Given the description of an element on the screen output the (x, y) to click on. 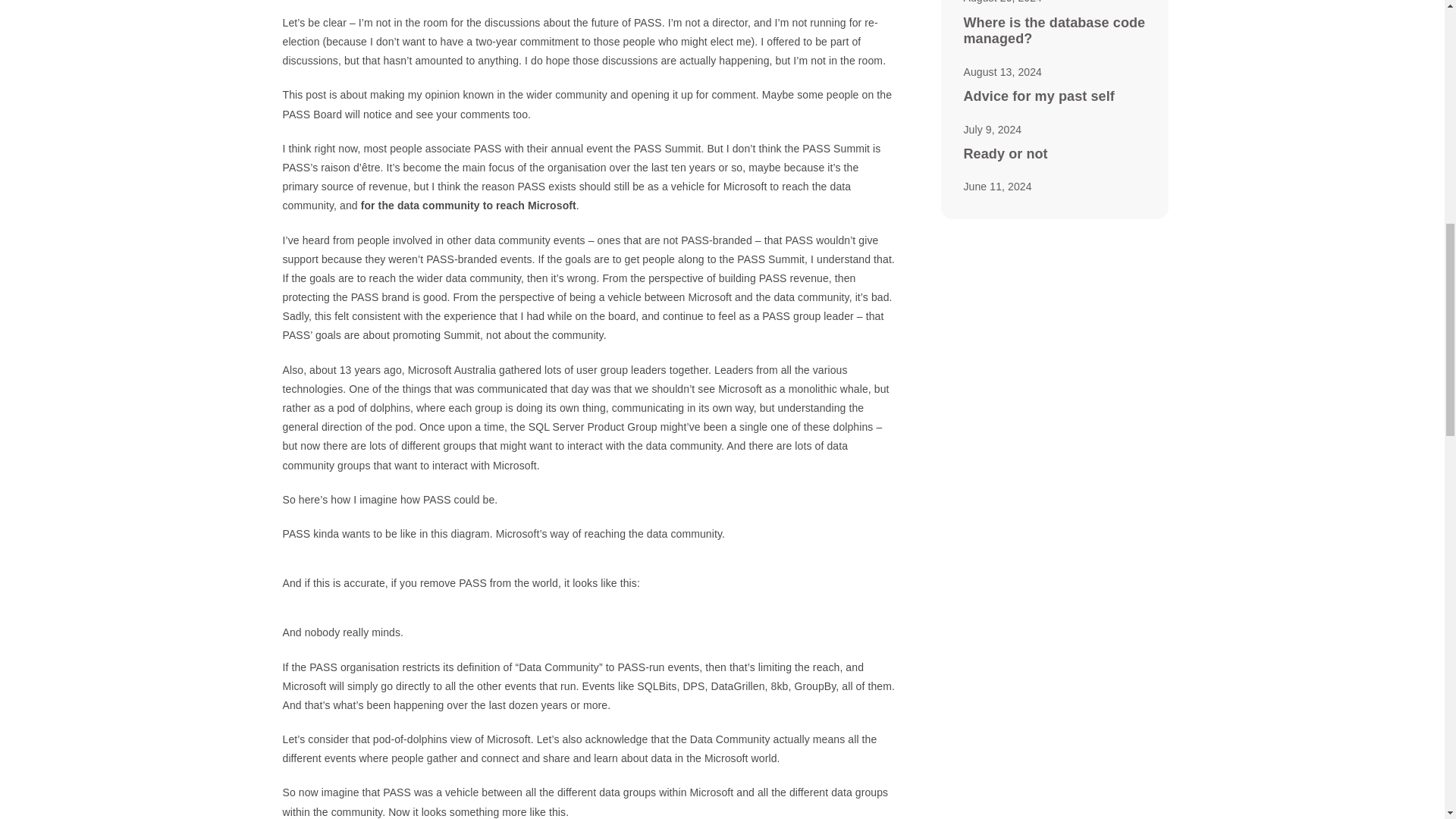
Ready or not (1004, 153)
Advice for my past self (1037, 96)
Where is the database code managed? (1053, 30)
